Given the description of an element on the screen output the (x, y) to click on. 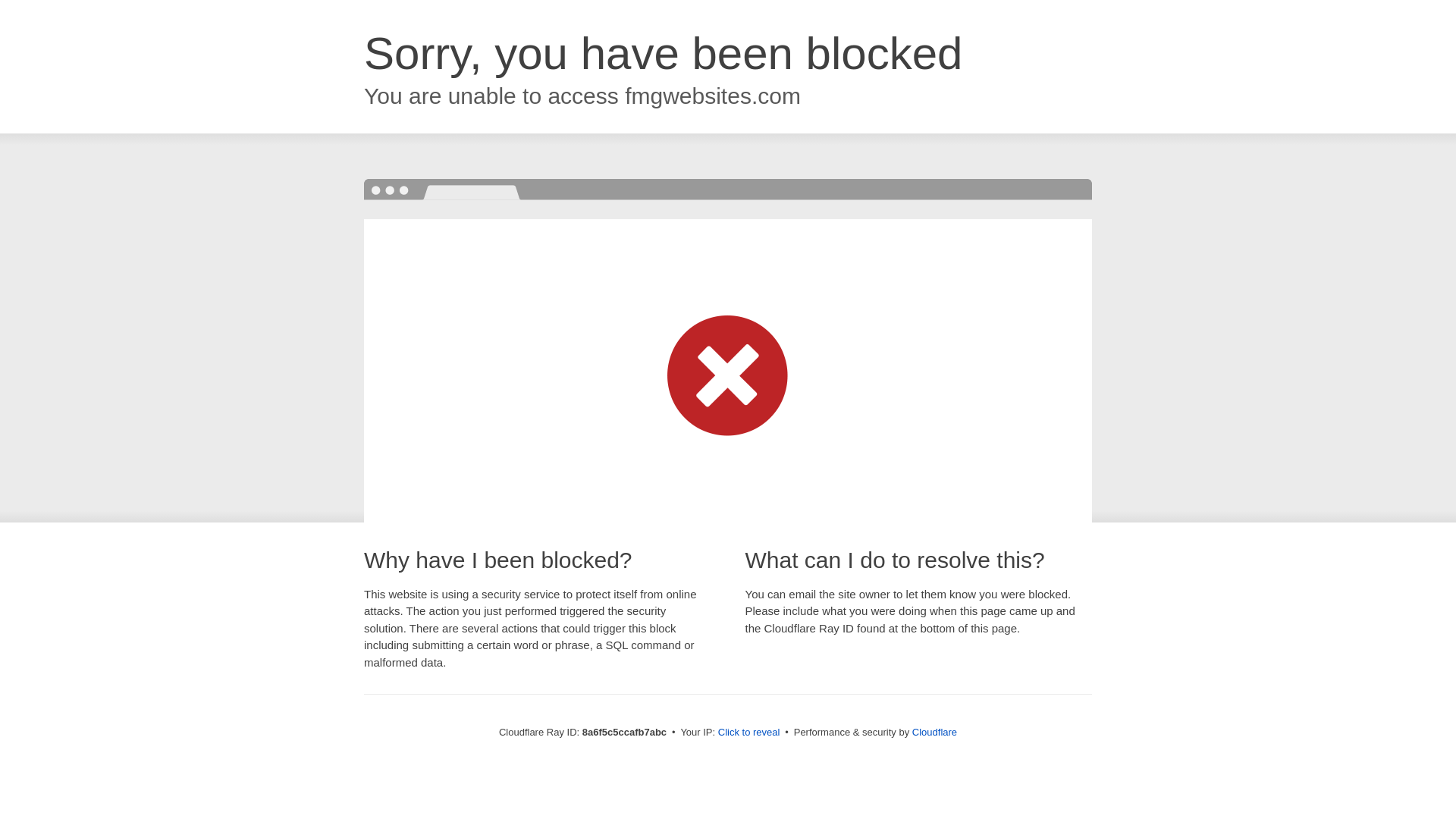
Click to reveal (748, 732)
Cloudflare (934, 731)
